Given the description of an element on the screen output the (x, y) to click on. 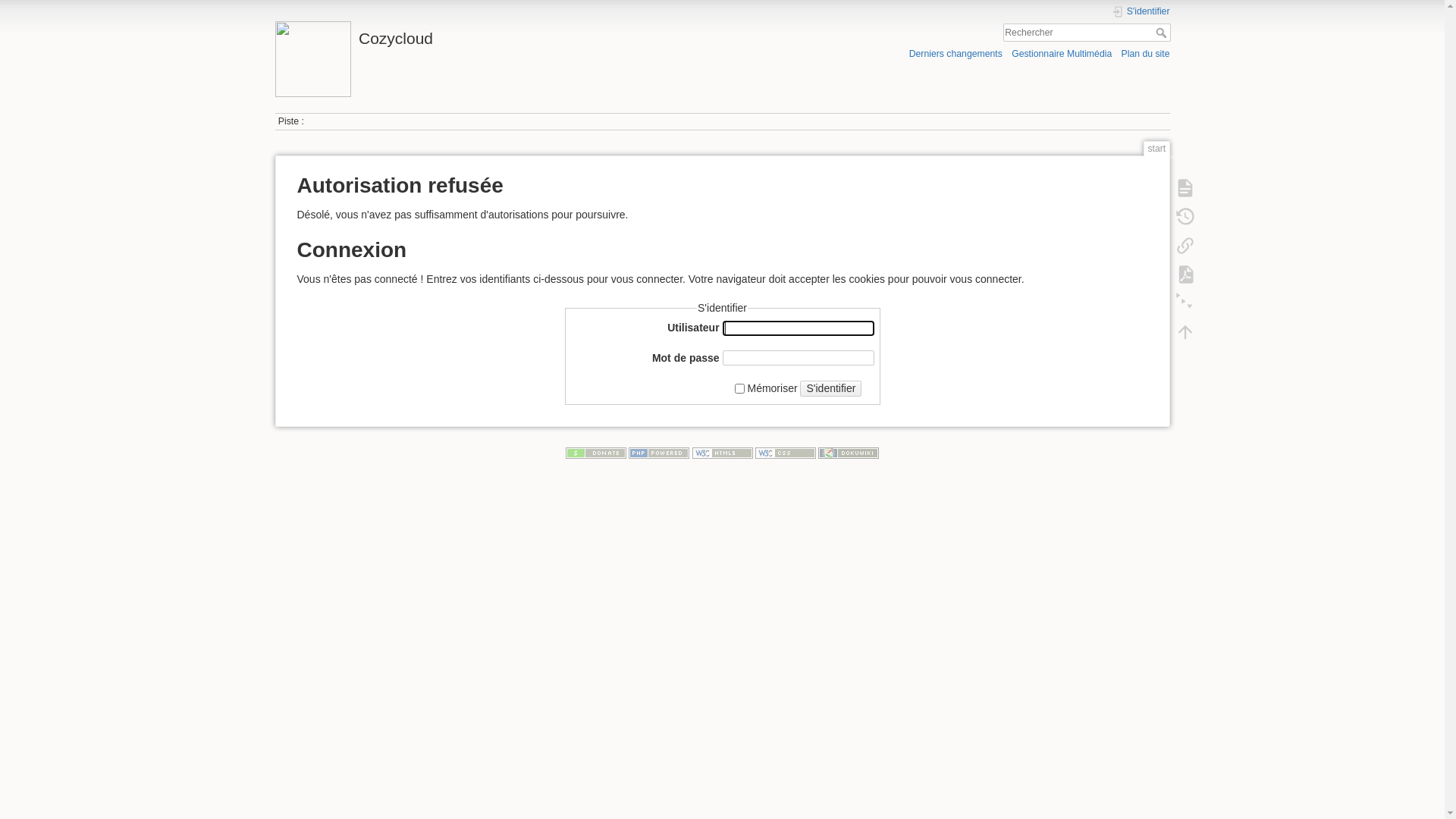
Driven by DokuWiki Element type: hover (848, 452)
Plan du site Element type: text (1144, 53)
Cozycloud Element type: text (493, 34)
Liens de retour Element type: hover (1184, 245)
Donate Element type: hover (595, 452)
S'identifier Element type: text (830, 388)
Powered by PHP Element type: hover (658, 452)
Afficher la page [v] Element type: hover (1184, 187)
Exporter en PDF Element type: hover (1184, 274)
[F] Element type: hover (1086, 32)
Valid HTML5 Element type: hover (721, 452)
Derniers changements Element type: text (955, 53)
Rechercher Element type: text (1162, 32)
S'identifier Element type: text (1140, 11)
Valid CSS Element type: hover (785, 452)
Haut de page [t] Element type: hover (1184, 331)
